Given the description of an element on the screen output the (x, y) to click on. 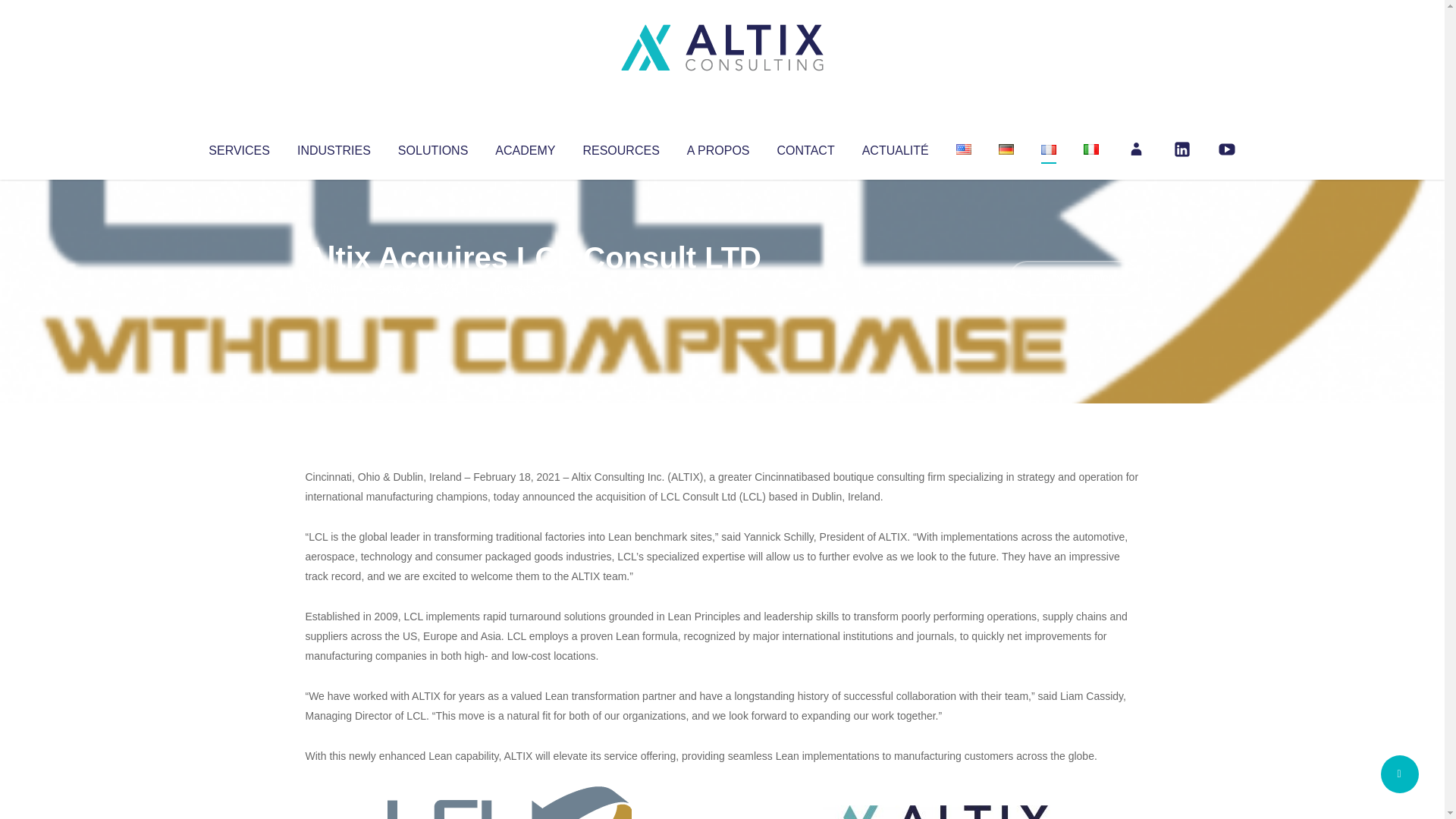
SOLUTIONS (432, 146)
SERVICES (238, 146)
RESOURCES (620, 146)
A PROPOS (718, 146)
Altix (333, 287)
INDUSTRIES (334, 146)
No Comments (1073, 278)
Uncategorized (530, 287)
ACADEMY (524, 146)
Articles par Altix (333, 287)
